Given the description of an element on the screen output the (x, y) to click on. 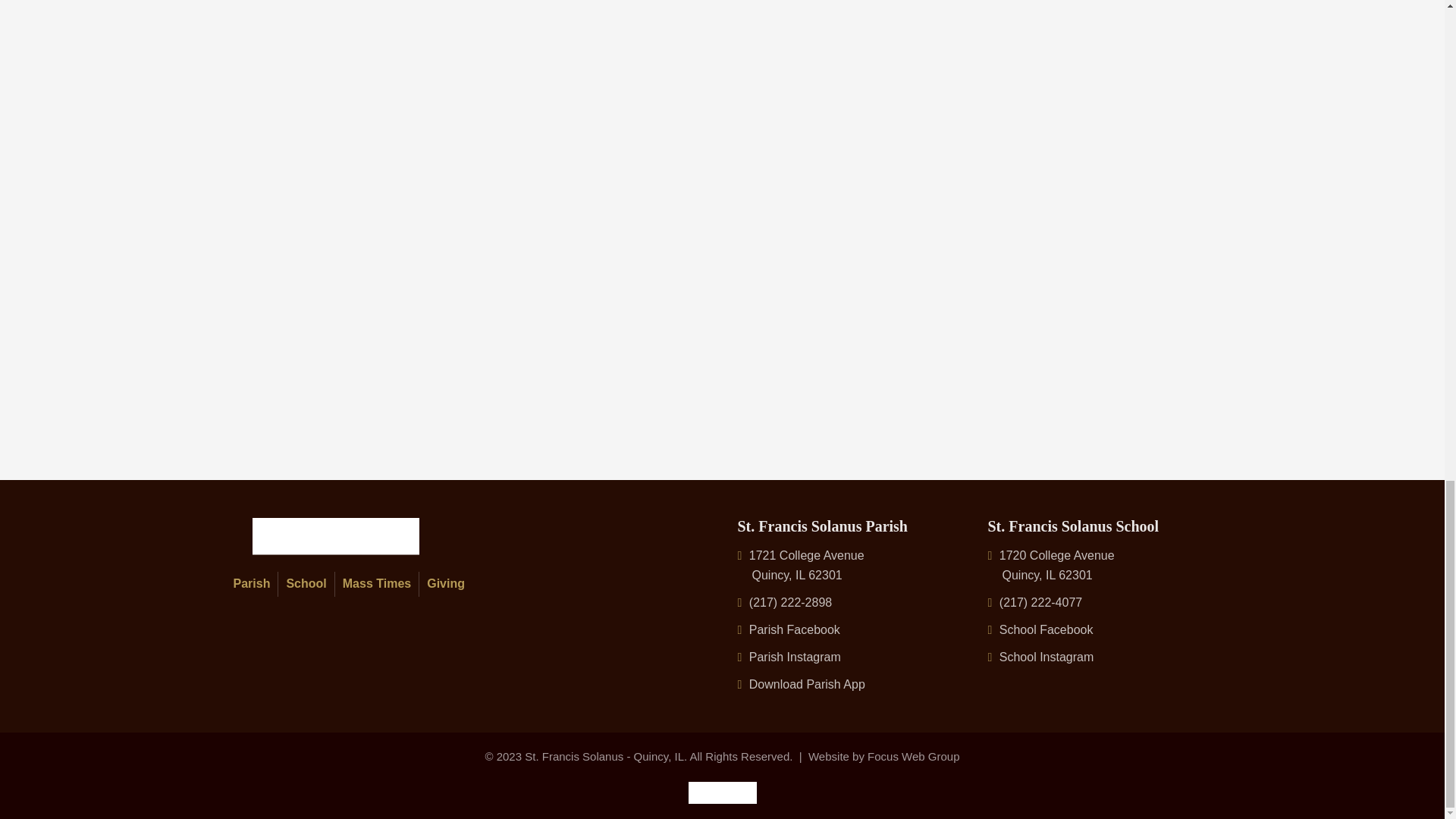
stf-footer-logo-440 (335, 536)
focus-web-group-badge (722, 792)
